Given the description of an element on the screen output the (x, y) to click on. 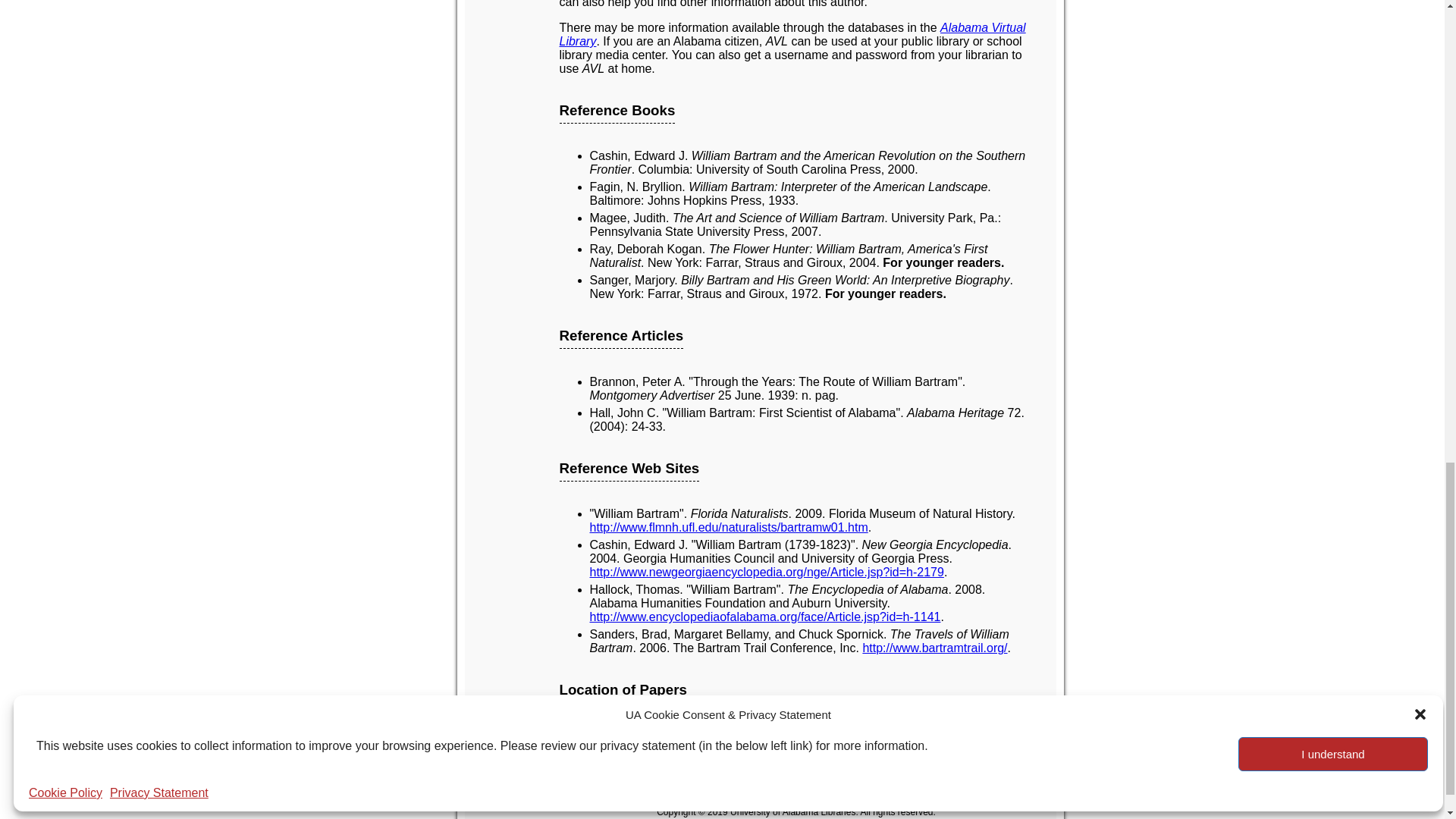
Alabama Virtual Library (792, 34)
